Given the description of an element on the screen output the (x, y) to click on. 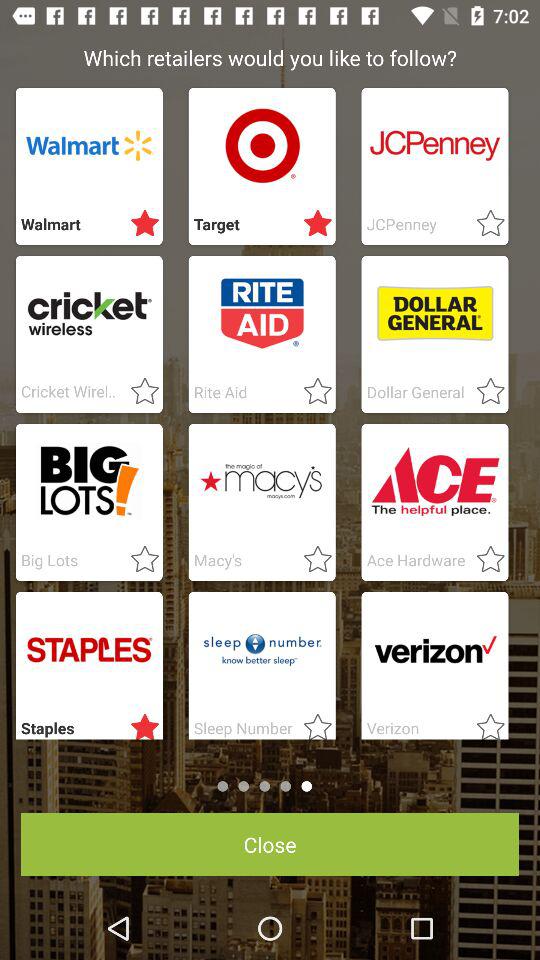
favorite (484, 392)
